Given the description of an element on the screen output the (x, y) to click on. 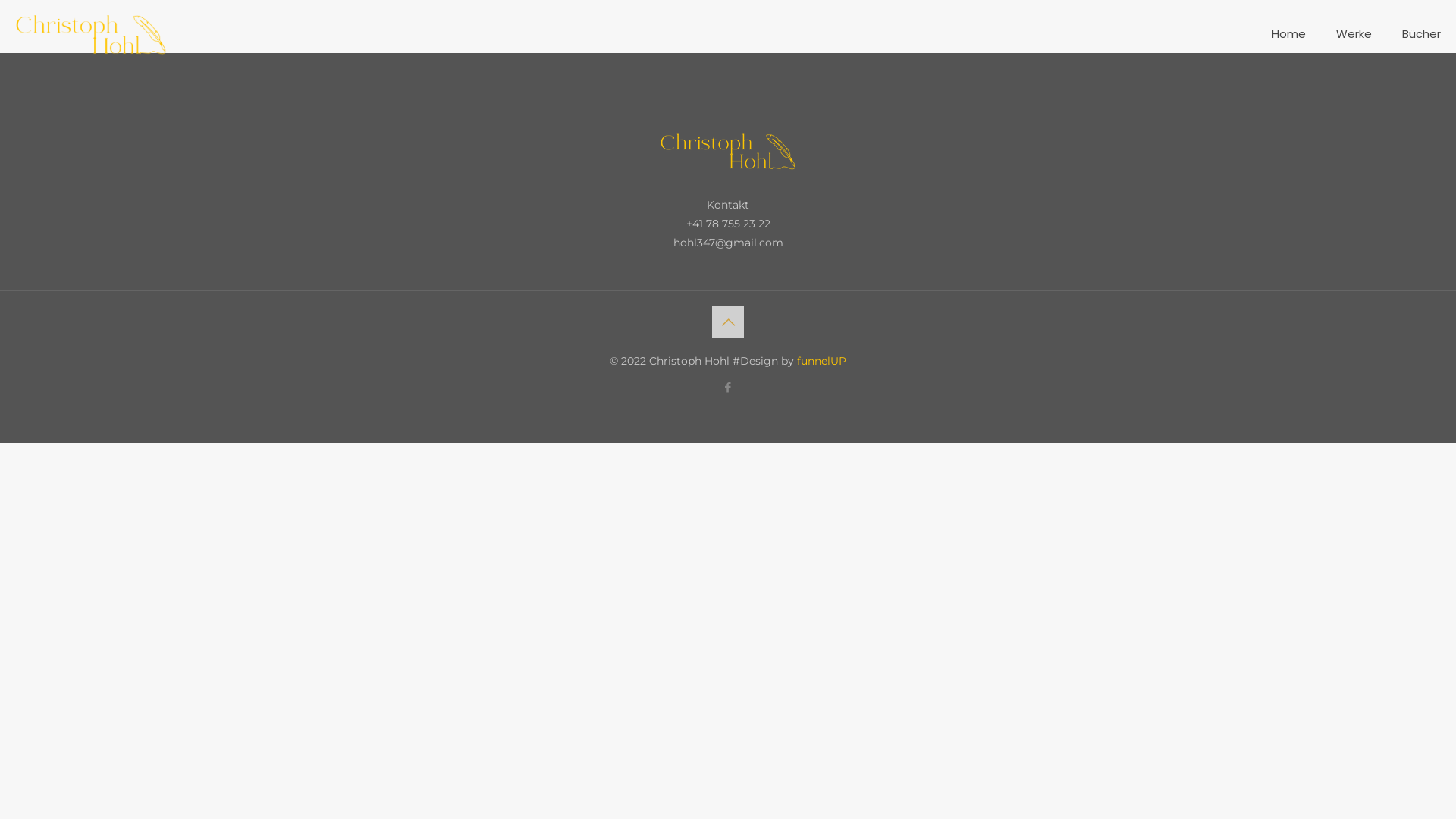
Christoph Hohl Element type: hover (90, 34)
Facebook Element type: hover (728, 386)
Werke Element type: text (1353, 34)
funnelUP Element type: text (821, 360)
Home Element type: text (1288, 34)
